Given the description of an element on the screen output the (x, y) to click on. 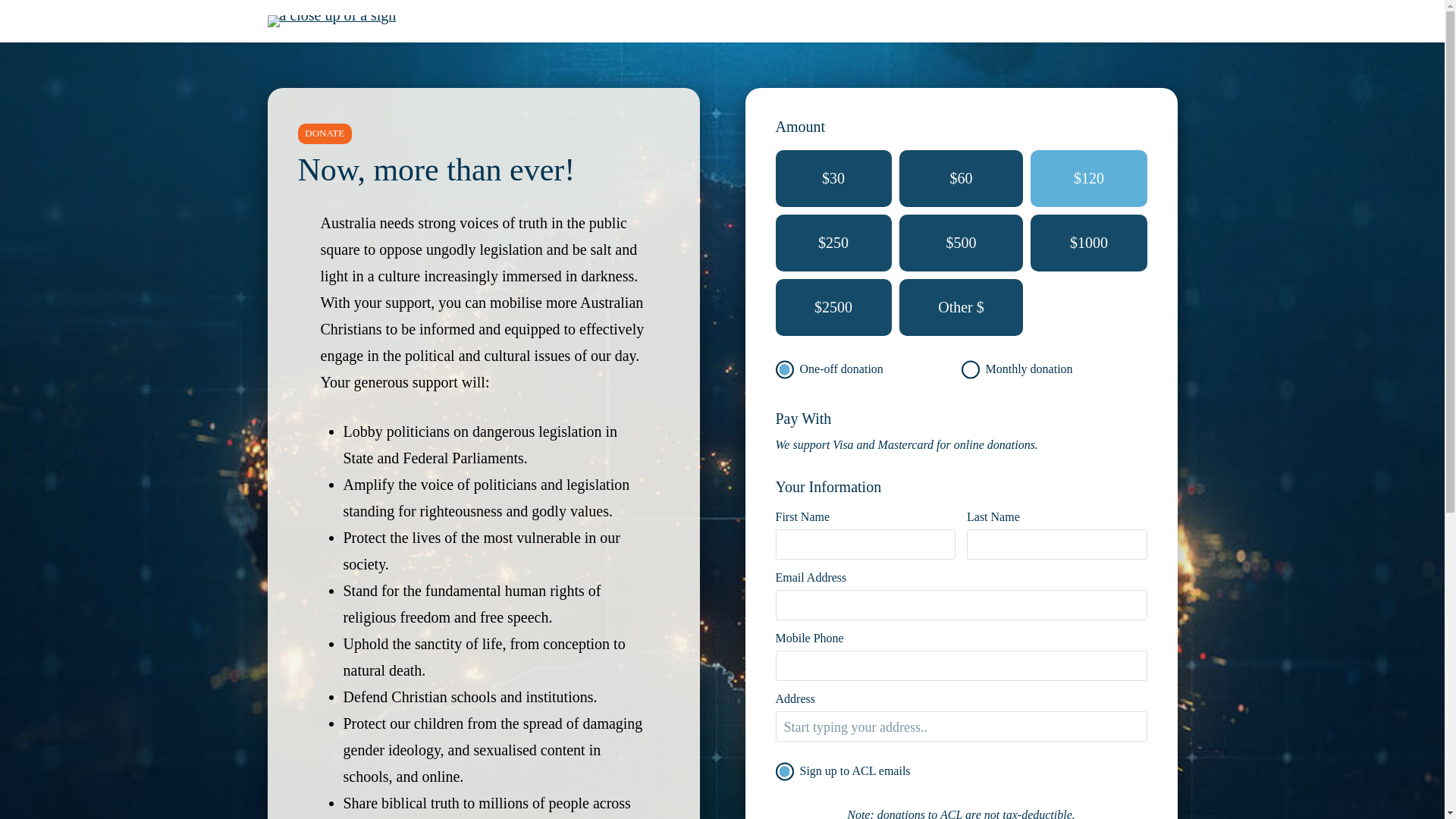
on (783, 771)
0 (783, 369)
1 (969, 369)
